Given the description of an element on the screen output the (x, y) to click on. 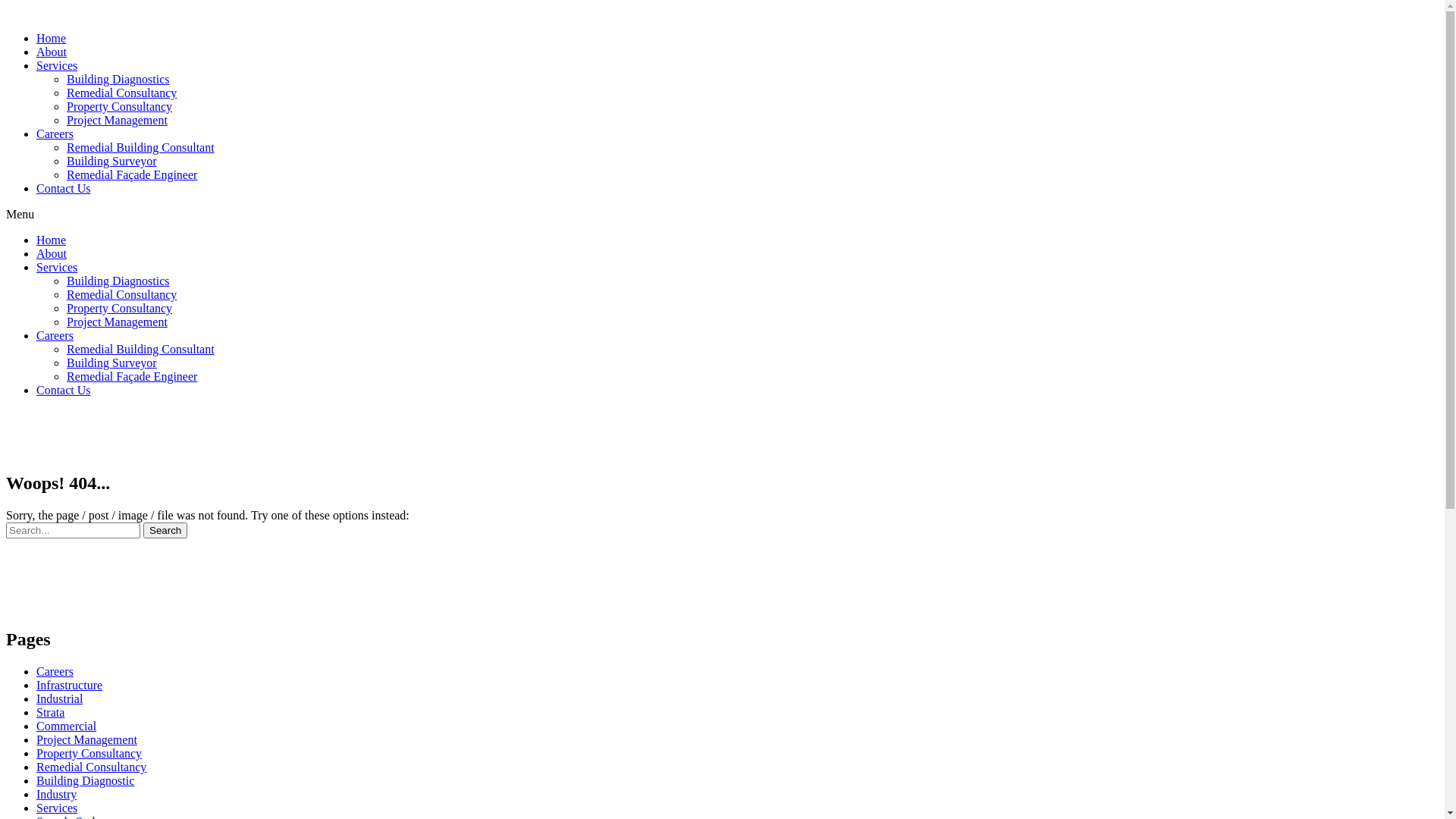
Property Consultancy Element type: text (119, 106)
Building Diagnostics Element type: text (117, 280)
Search Element type: text (165, 530)
Home Element type: text (50, 37)
Remedial Building Consultant Element type: text (140, 147)
Building Surveyor Element type: text (111, 362)
Search Element type: hover (73, 530)
Building Surveyor Element type: text (111, 160)
Remedial Consultancy Element type: text (121, 294)
Project Management Element type: text (86, 739)
Industry Element type: text (56, 793)
Industrial Element type: text (59, 698)
Building Diagnostics Element type: text (117, 78)
Home Element type: text (50, 239)
Careers Element type: text (54, 133)
Project Management Element type: text (116, 321)
Careers Element type: text (54, 671)
Property Consultancy Element type: text (119, 307)
Contact Us Element type: text (63, 188)
Infrastructure Element type: text (69, 684)
Property Consultancy Element type: text (88, 752)
Services Element type: text (56, 266)
Commercial Element type: text (66, 725)
Remedial Building Consultant Element type: text (140, 348)
About Element type: text (51, 253)
Services Element type: text (56, 65)
Strata Element type: text (50, 712)
Services Element type: text (56, 807)
About Element type: text (51, 51)
Remedial Consultancy Element type: text (91, 766)
Contact Us Element type: text (63, 389)
Project Management Element type: text (116, 119)
Careers Element type: text (54, 335)
Building Diagnostic Element type: text (85, 780)
Remedial Consultancy Element type: text (121, 92)
